Given the description of an element on the screen output the (x, y) to click on. 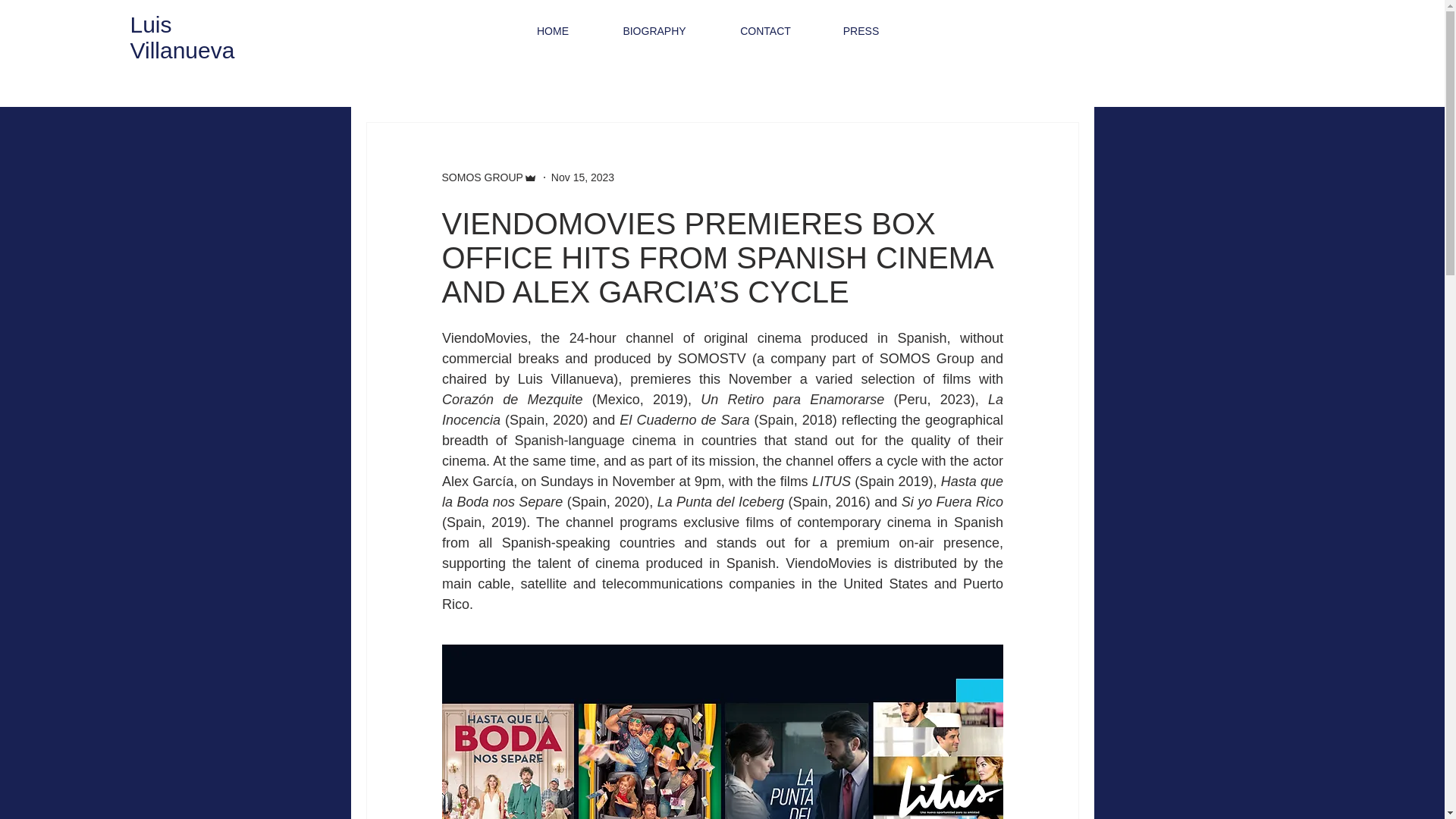
PRESS (861, 30)
Luis Villanueva (182, 37)
BIOGRAPHY (653, 30)
CONTACT (765, 30)
Nov 15, 2023 (582, 177)
HOME (552, 30)
SOMOS GROUP (481, 177)
